Given the description of an element on the screen output the (x, y) to click on. 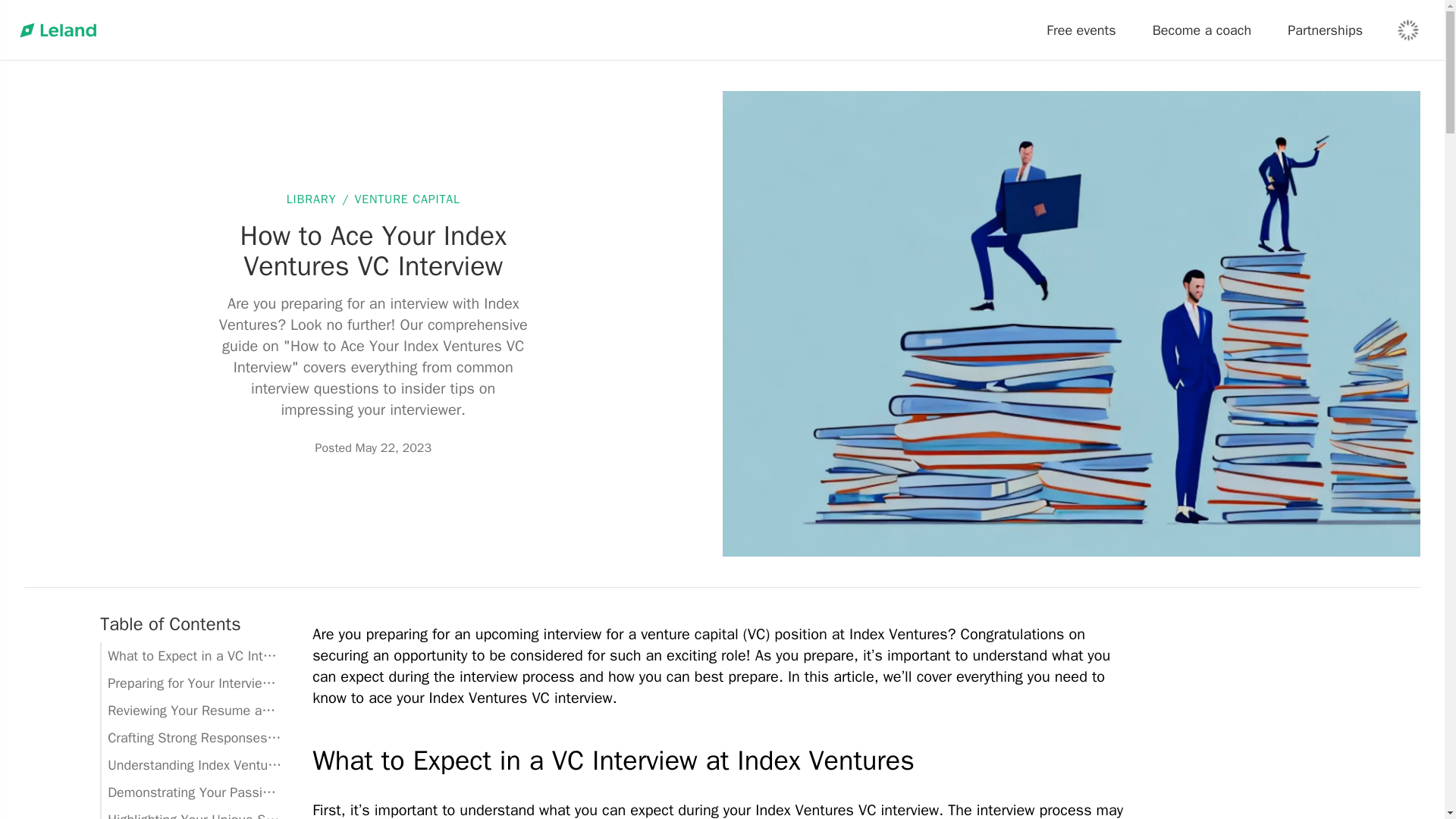
Crafting Strong Responses to Common VC Interview Questions (191, 737)
What to Expect in a VC Interview at Index Ventures (191, 655)
Reviewing Your Resume and Cover Letter for the Interview (191, 709)
Highlighting Your Unique Skill Set and Experience (191, 812)
What to Expect in a VC Interview at Index Ventures (722, 760)
Preparing for Your Interview: Researching Index Ventures (191, 682)
VENTURE CAPITAL (406, 199)
LIBRARY (311, 199)
